Given the description of an element on the screen output the (x, y) to click on. 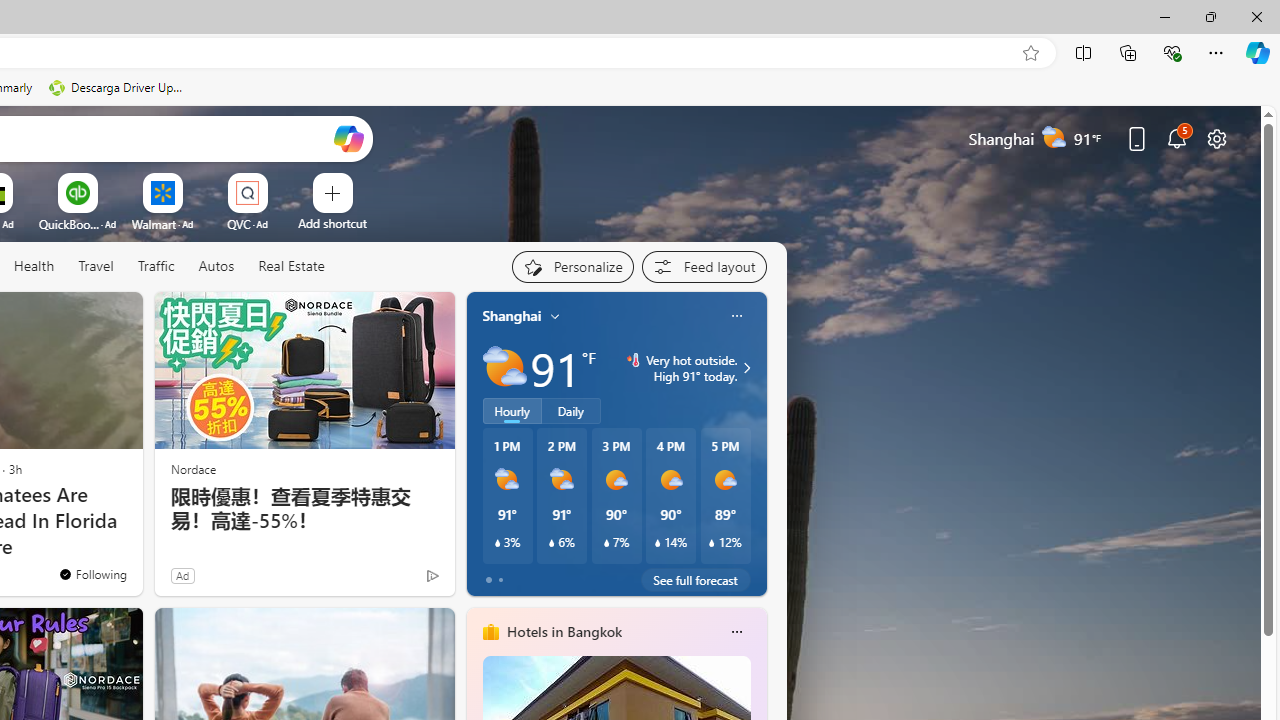
tab-0 (488, 579)
See full forecast (695, 579)
Class: weather-arrow-glyph (746, 367)
Notifications (1176, 138)
Autos (216, 267)
Real Estate (290, 267)
